Given the description of an element on the screen output the (x, y) to click on. 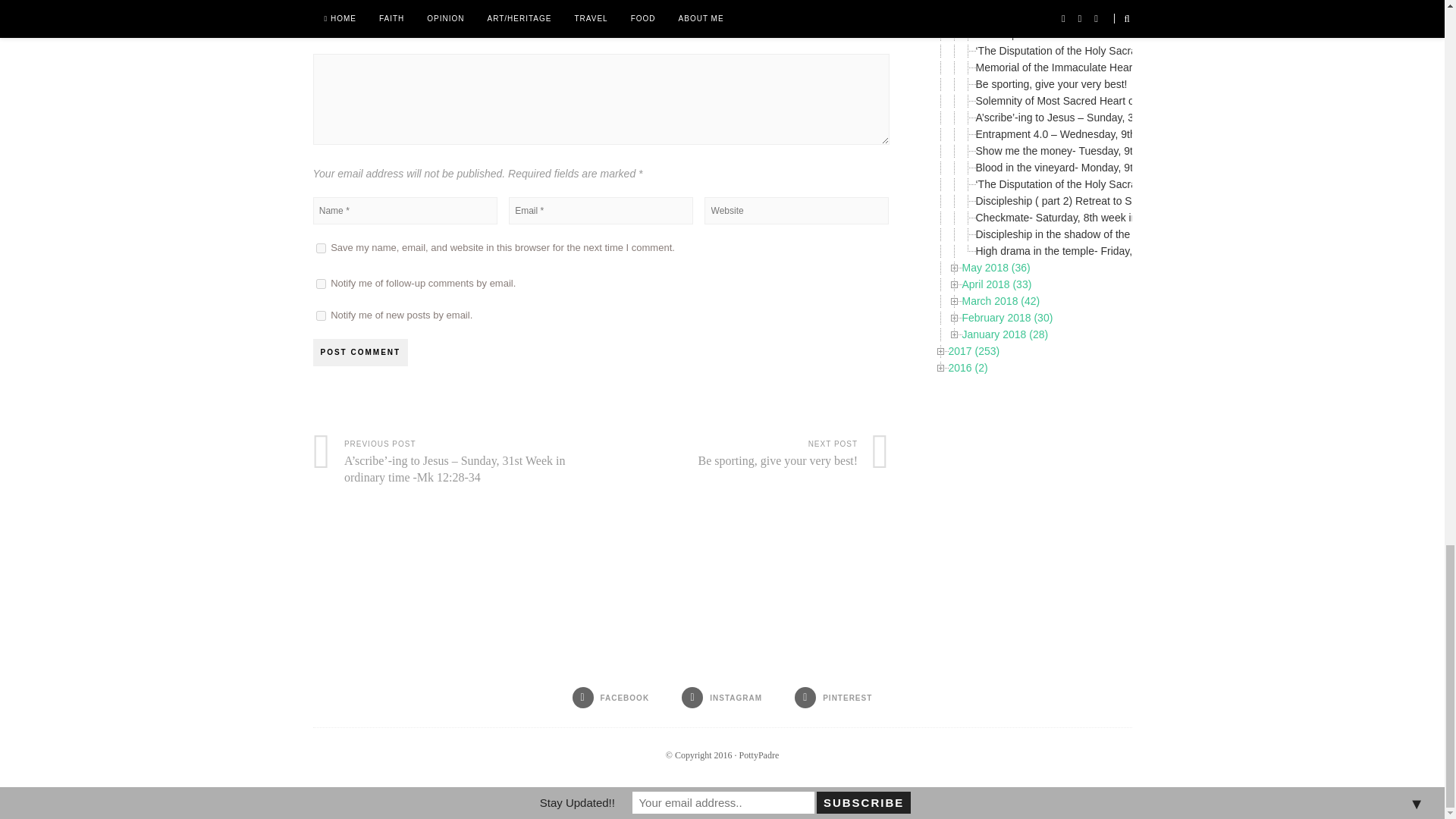
subscribe (319, 316)
Post Comment (360, 352)
yes (319, 248)
subscribe (319, 284)
Post Comment (360, 352)
